Given the description of an element on the screen output the (x, y) to click on. 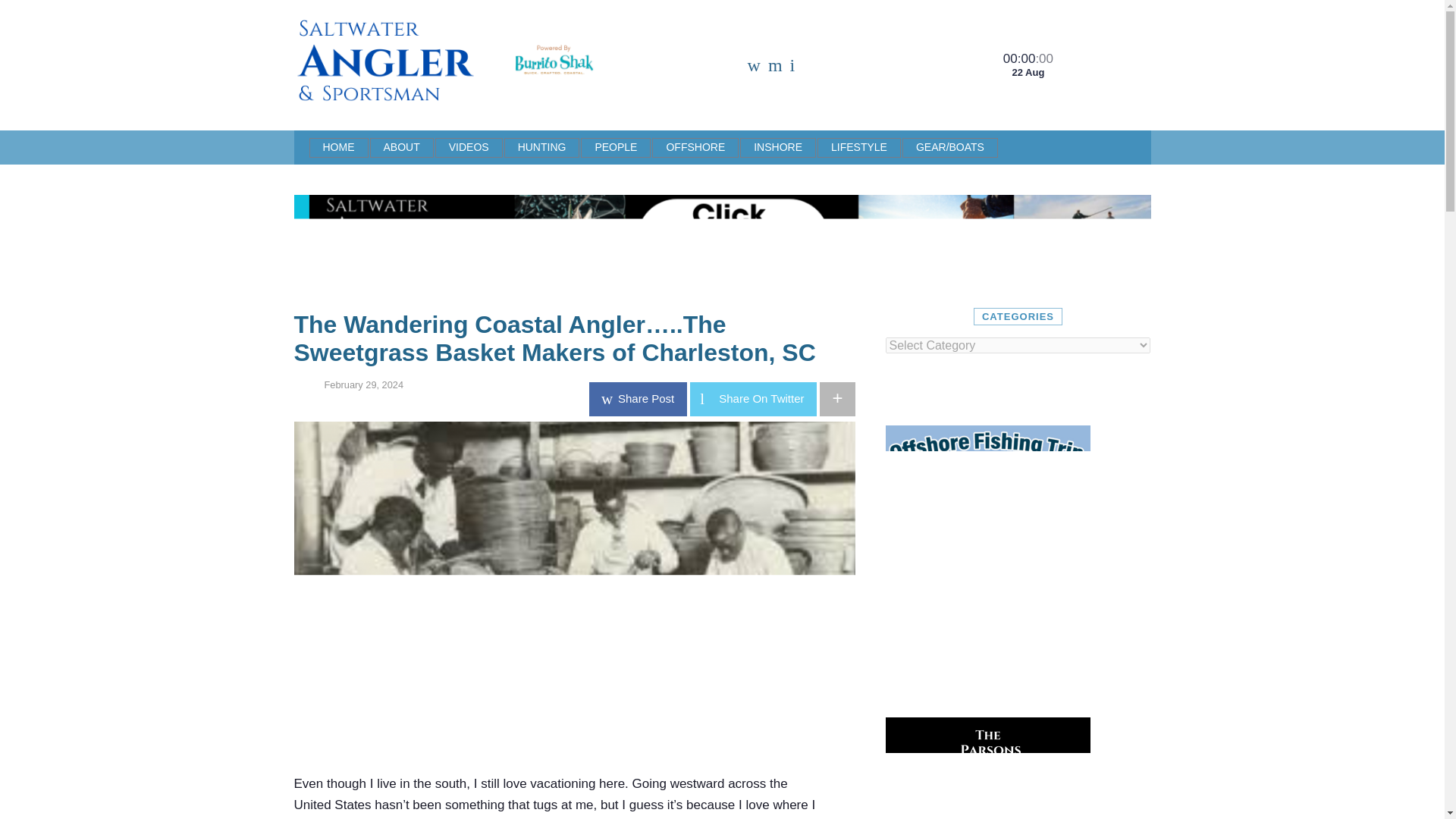
OFFSHORE (695, 147)
INSHORE (777, 147)
PEOPLE (615, 147)
LIFESTYLE (858, 147)
VIDEOS (468, 147)
HUNTING (541, 147)
HOME (338, 147)
ABOUT (401, 147)
